Given the description of an element on the screen output the (x, y) to click on. 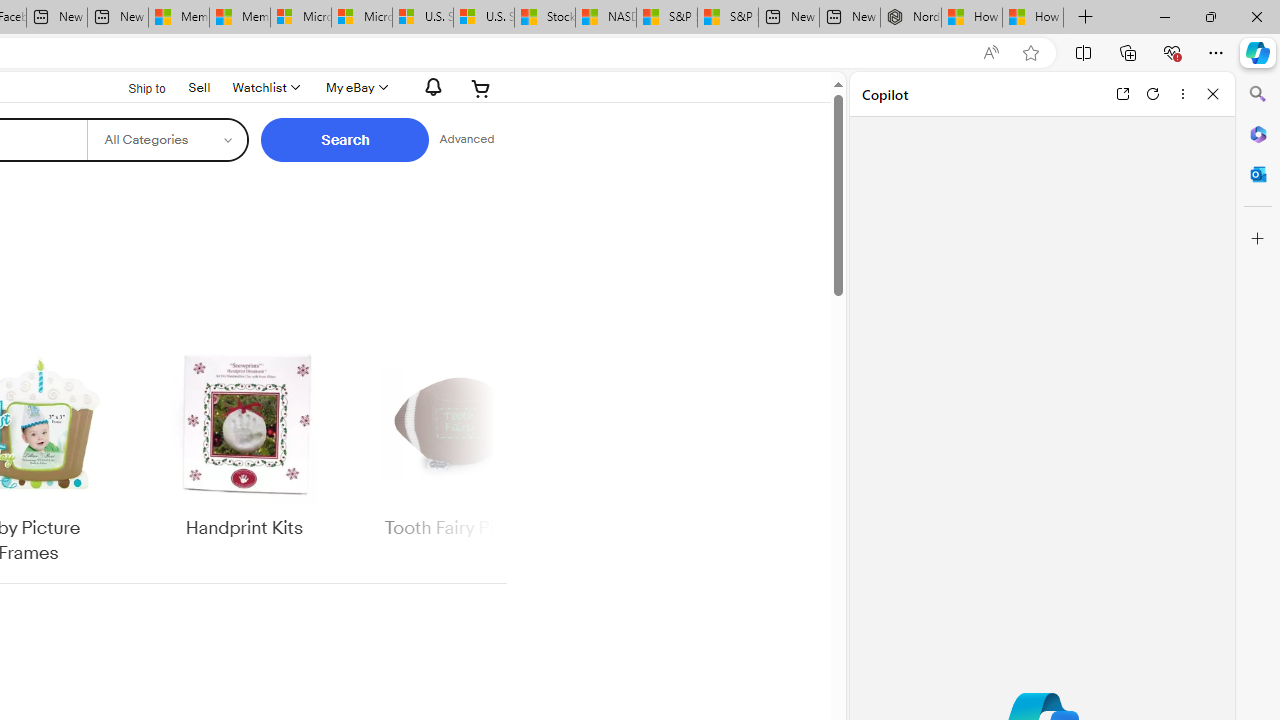
My eBay (354, 88)
Your shopping cart (481, 88)
Ship to (134, 86)
More options (1182, 93)
Microsoft 365 (1258, 133)
